Given the description of an element on the screen output the (x, y) to click on. 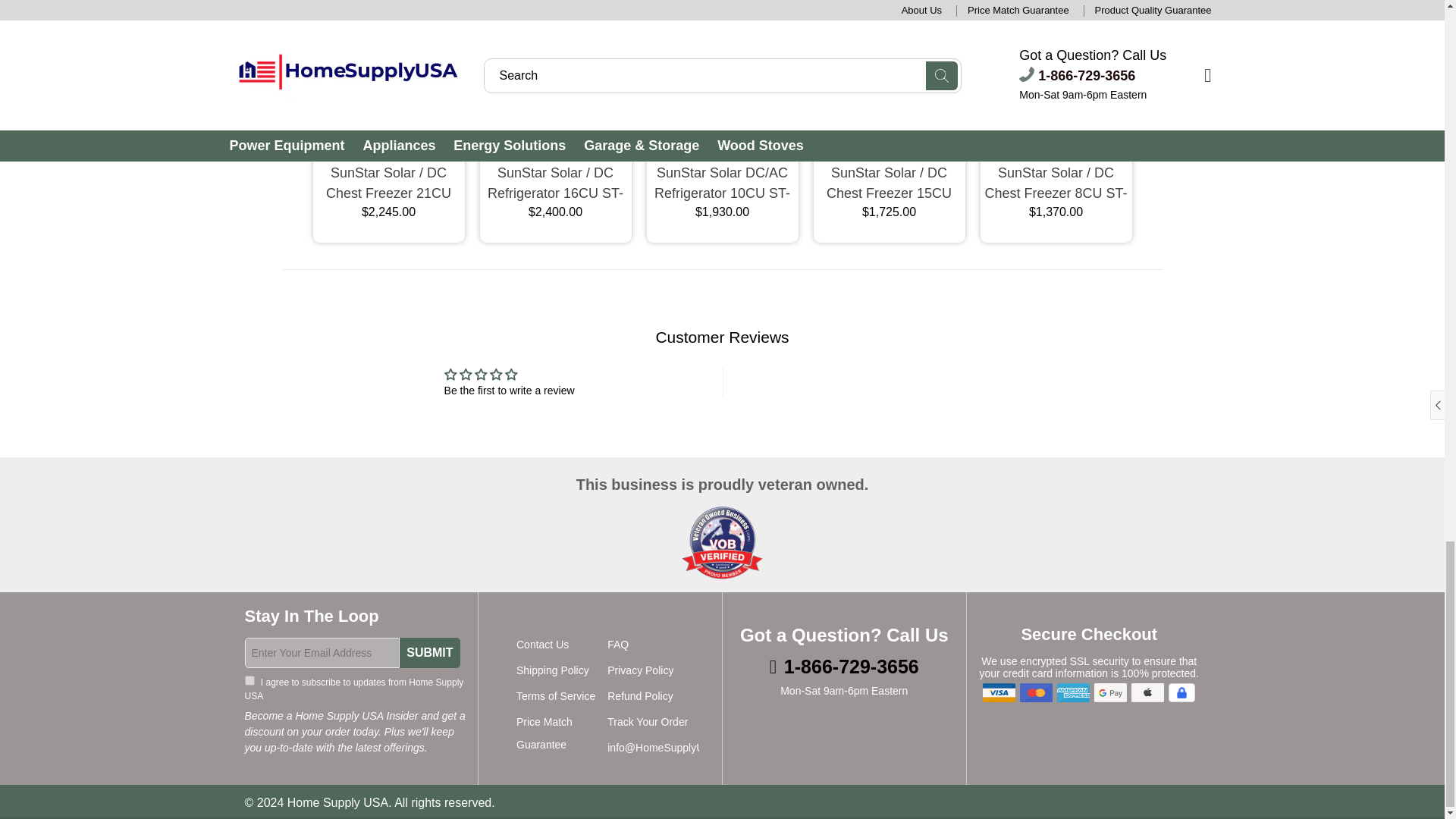
on (248, 680)
